Given the description of an element on the screen output the (x, y) to click on. 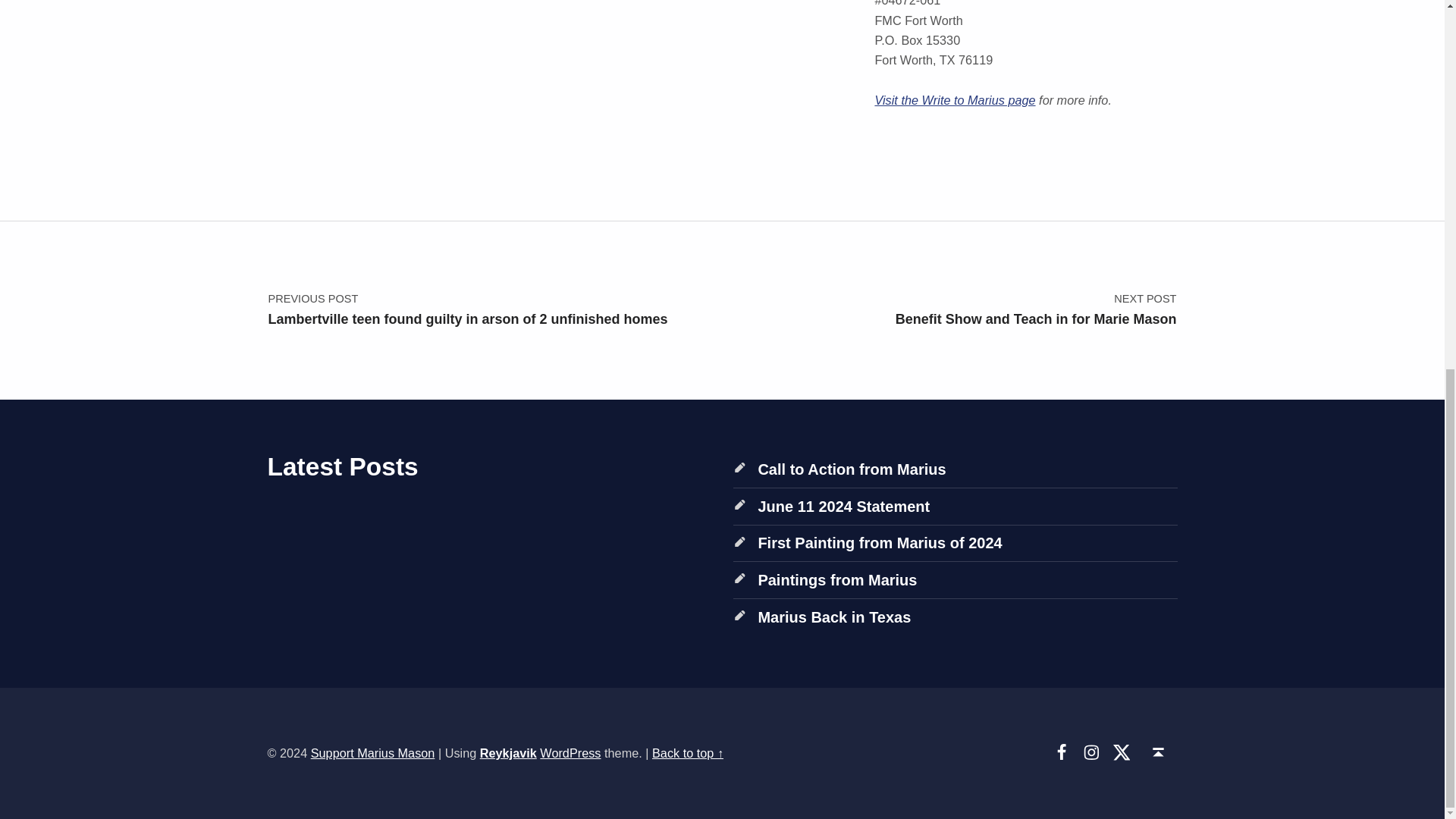
Back to top (1158, 752)
Visit the Write to Marius page (949, 309)
Call to Action from Marius (955, 100)
